Given the description of an element on the screen output the (x, y) to click on. 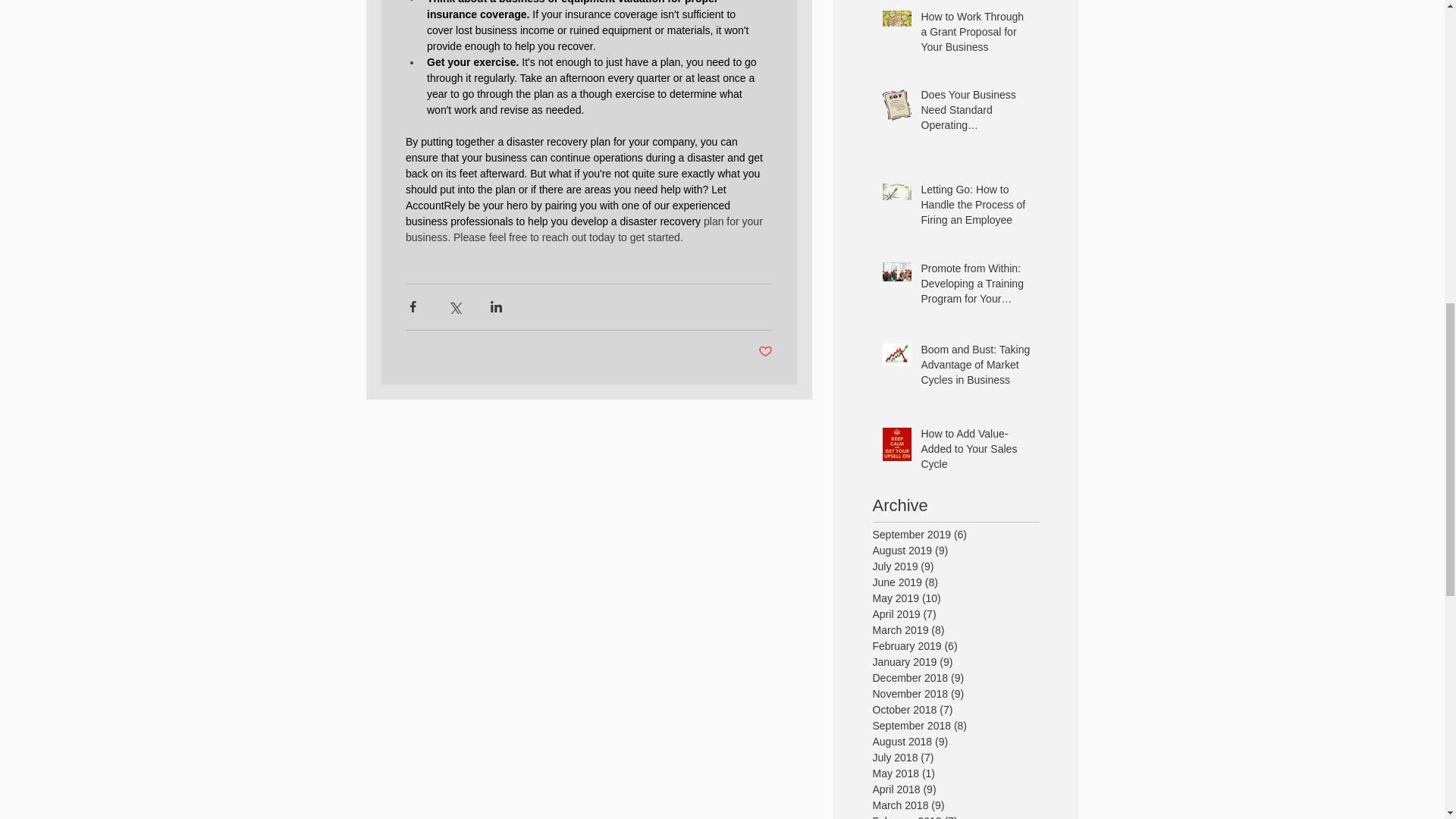
Boom and Bust: Taking Advantage of Market Cycles in Business (974, 368)
How to Add Value-Added to Your Sales Cycle (974, 451)
Post not marked as liked (765, 351)
Letting Go: How to Handle the Process of Firing an Employee (974, 207)
How to Work Through a Grant Proposal for Your Business (974, 34)
